Given the description of an element on the screen output the (x, y) to click on. 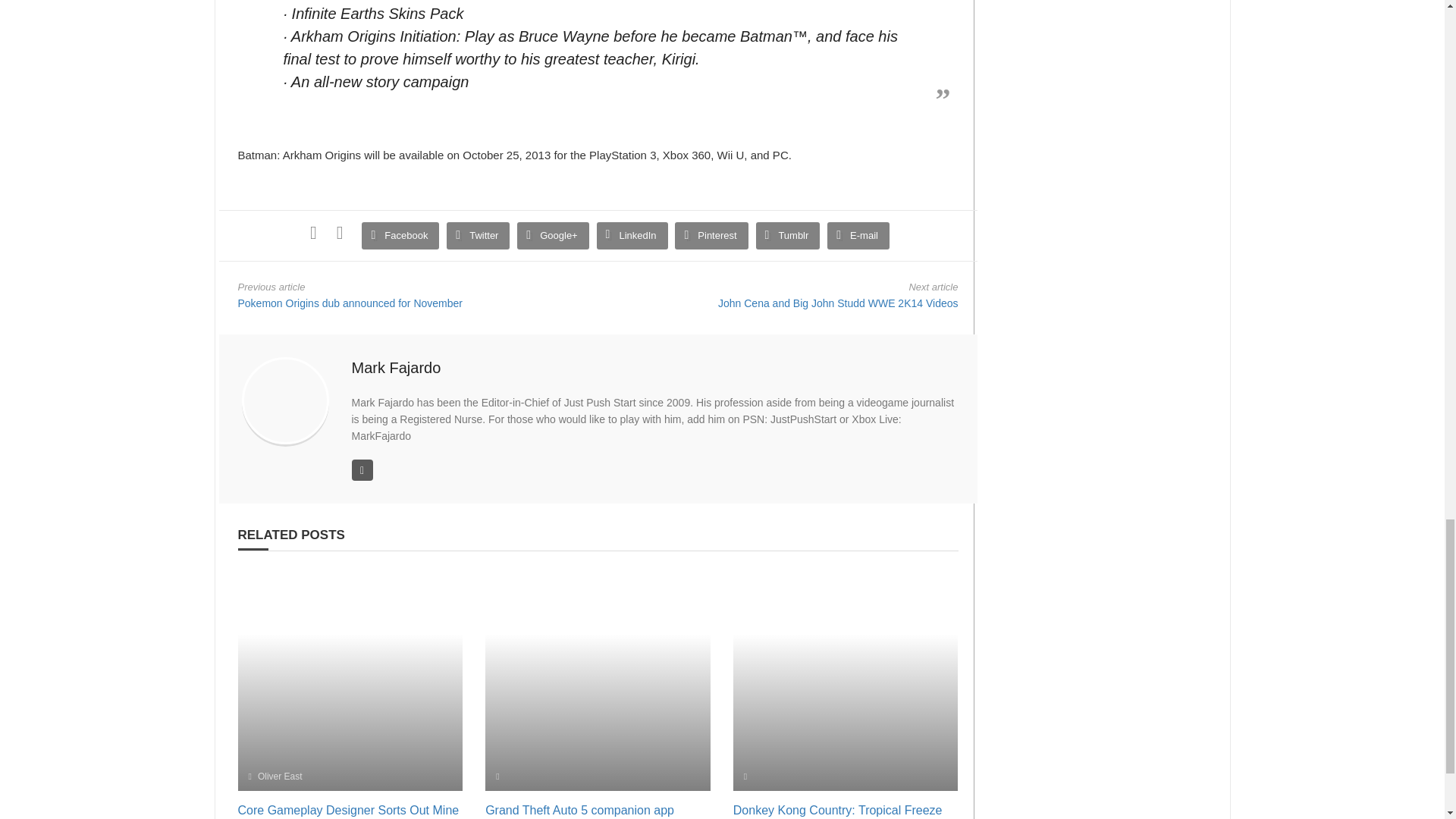
Posts by Mark Fajardo (396, 367)
John Cena and Big John Studd WWE 2K14 Videos (837, 303)
Pokemon Origins dub announced for November (350, 303)
